Given the description of an element on the screen output the (x, y) to click on. 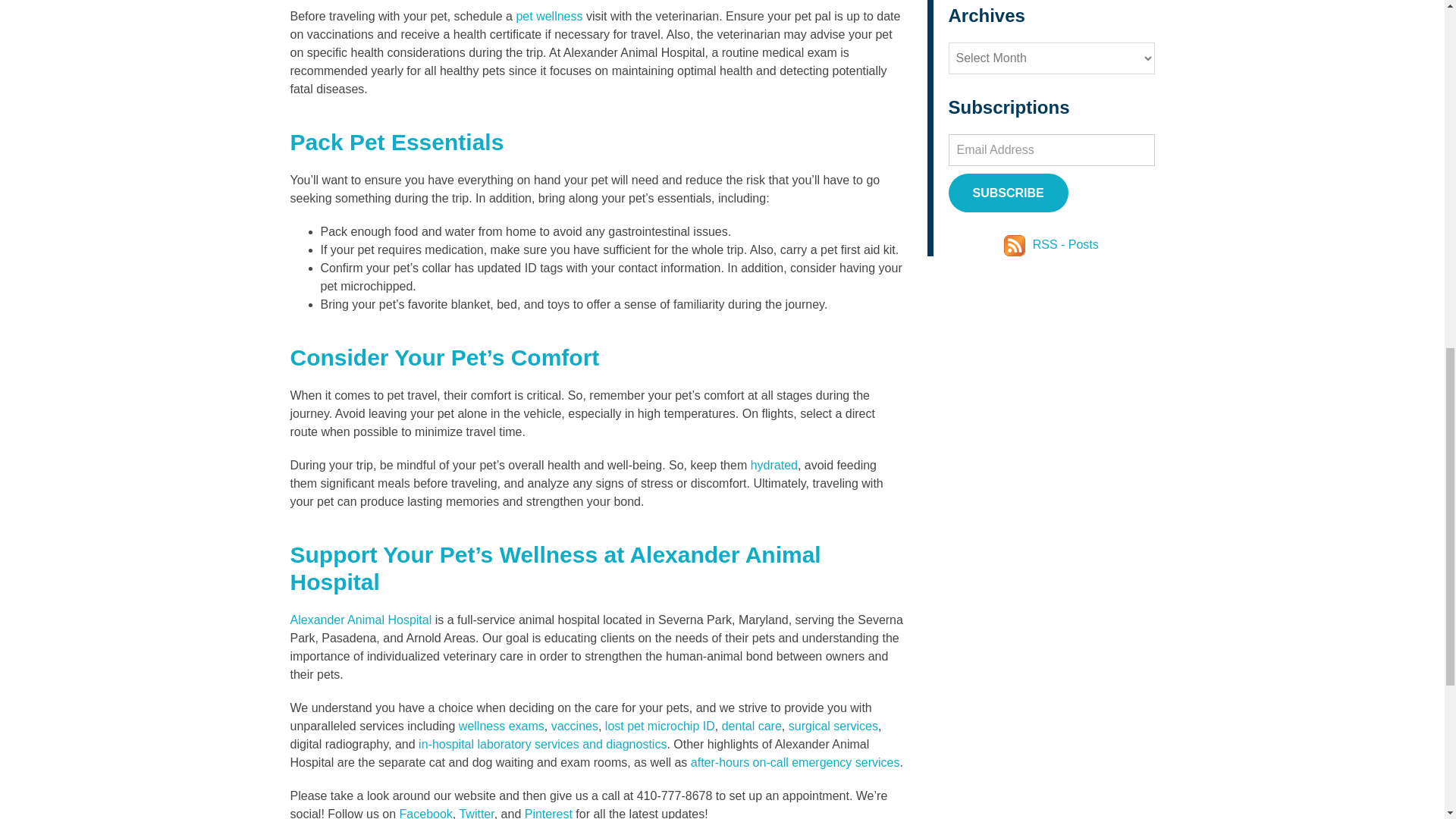
Alexander Animal Hospital (359, 619)
 dental care (749, 725)
 vaccines (572, 725)
Subscribe to Posts (1016, 244)
 in-hospital laboratory services and diagnostics (540, 744)
 surgical services (830, 725)
pet wellness (548, 15)
lost pet microchip ID (659, 725)
 Facebook (424, 813)
 Twitter (474, 813)
